Given the description of an element on the screen output the (x, y) to click on. 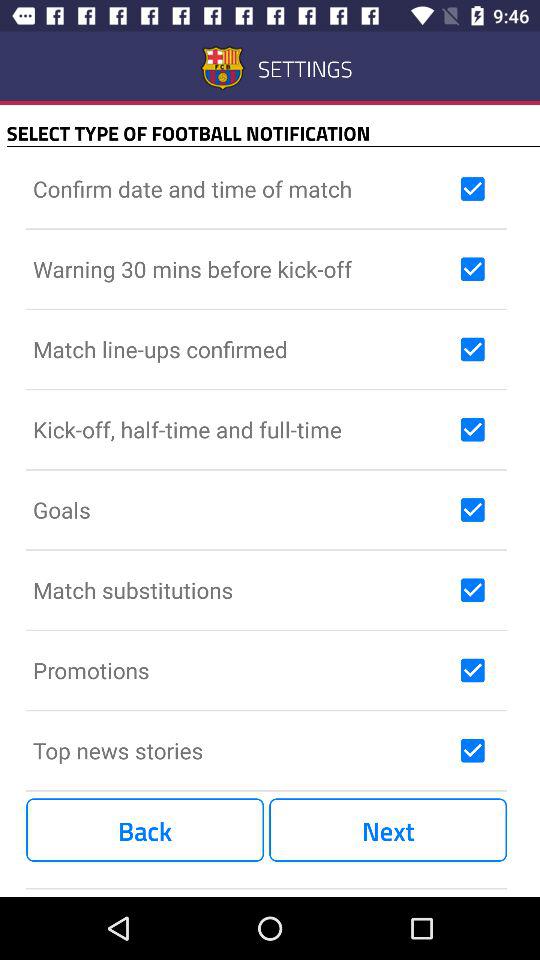
click the icon above the back item (242, 750)
